Given the description of an element on the screen output the (x, y) to click on. 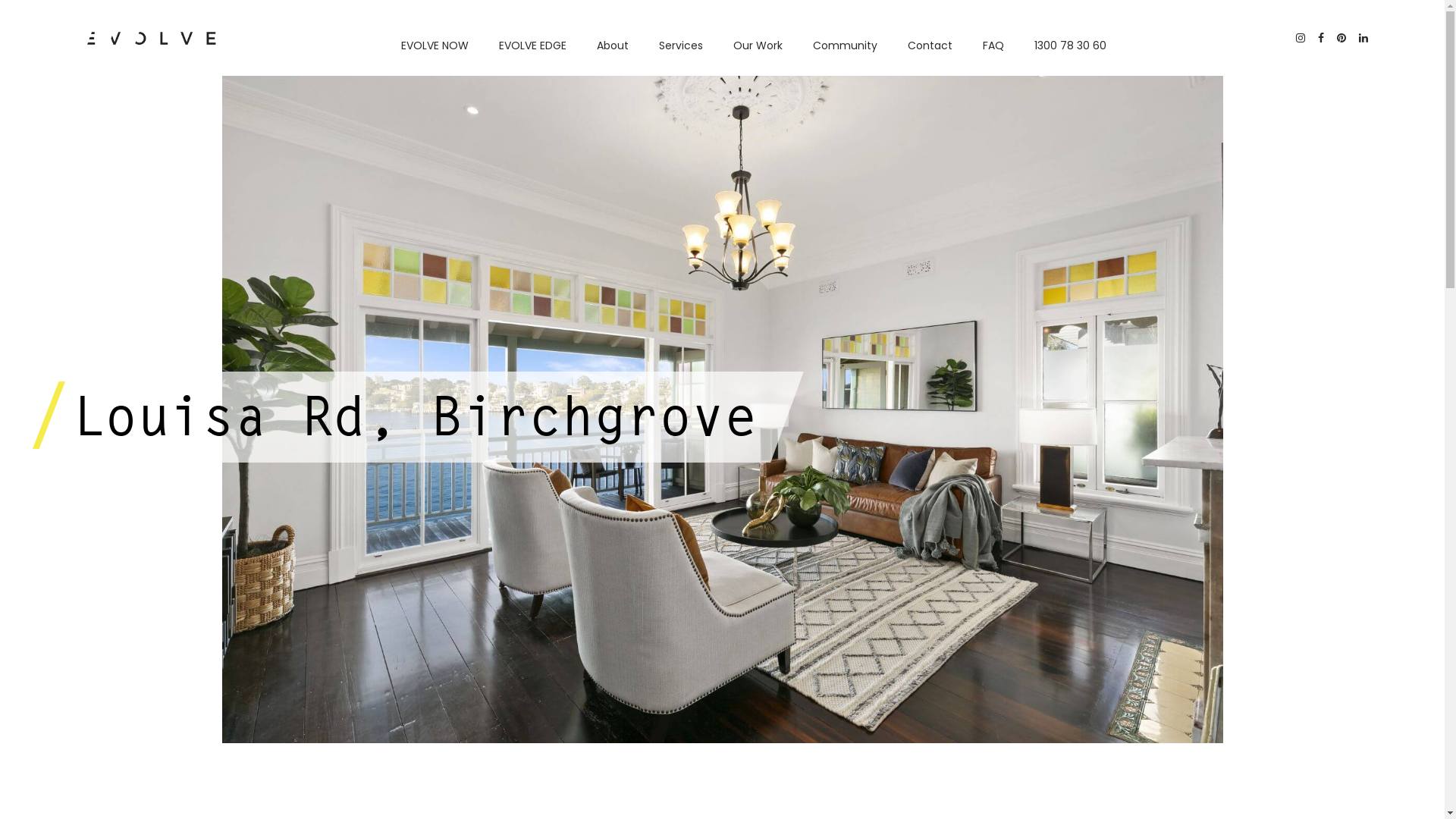
Services Element type: text (680, 45)
EVOLVE NOW Element type: text (434, 45)
FAQ Element type: text (993, 45)
About Element type: text (612, 45)
1300 78 30 60 Element type: text (1070, 45)
Contact Element type: text (929, 45)
EVOLVE EDGE Element type: text (532, 45)
Our Work Element type: text (757, 45)
Community Element type: text (844, 45)
